Given the description of an element on the screen output the (x, y) to click on. 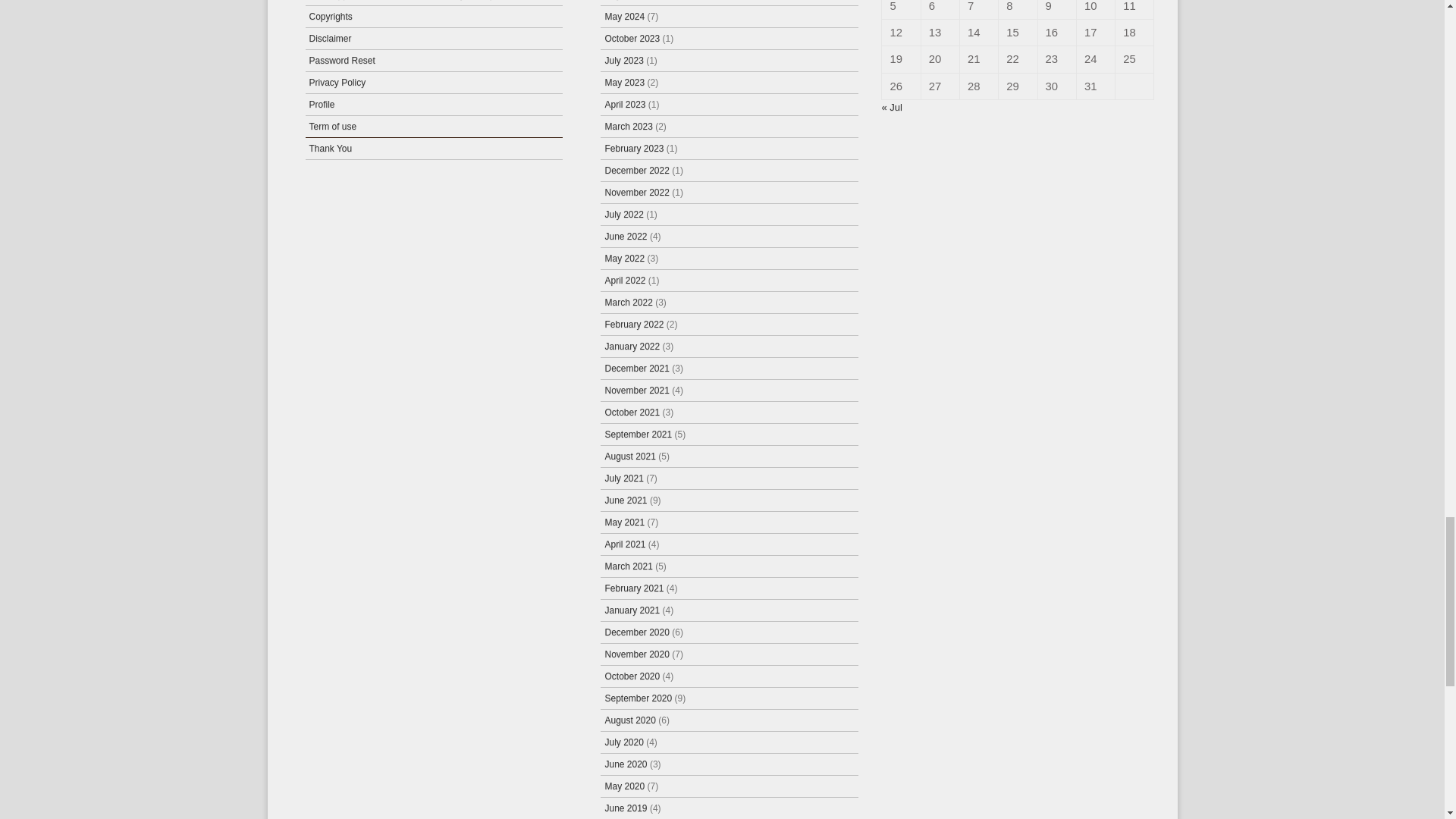
May 2023 (624, 81)
Password Reset (341, 60)
May 2024 (624, 16)
October 2023 (631, 38)
Privacy Policy (337, 81)
Term of use (332, 126)
Disclaimer (330, 38)
Copyrights (330, 16)
Thank You (330, 148)
Profile (321, 104)
July 2023 (623, 60)
